Given the description of an element on the screen output the (x, y) to click on. 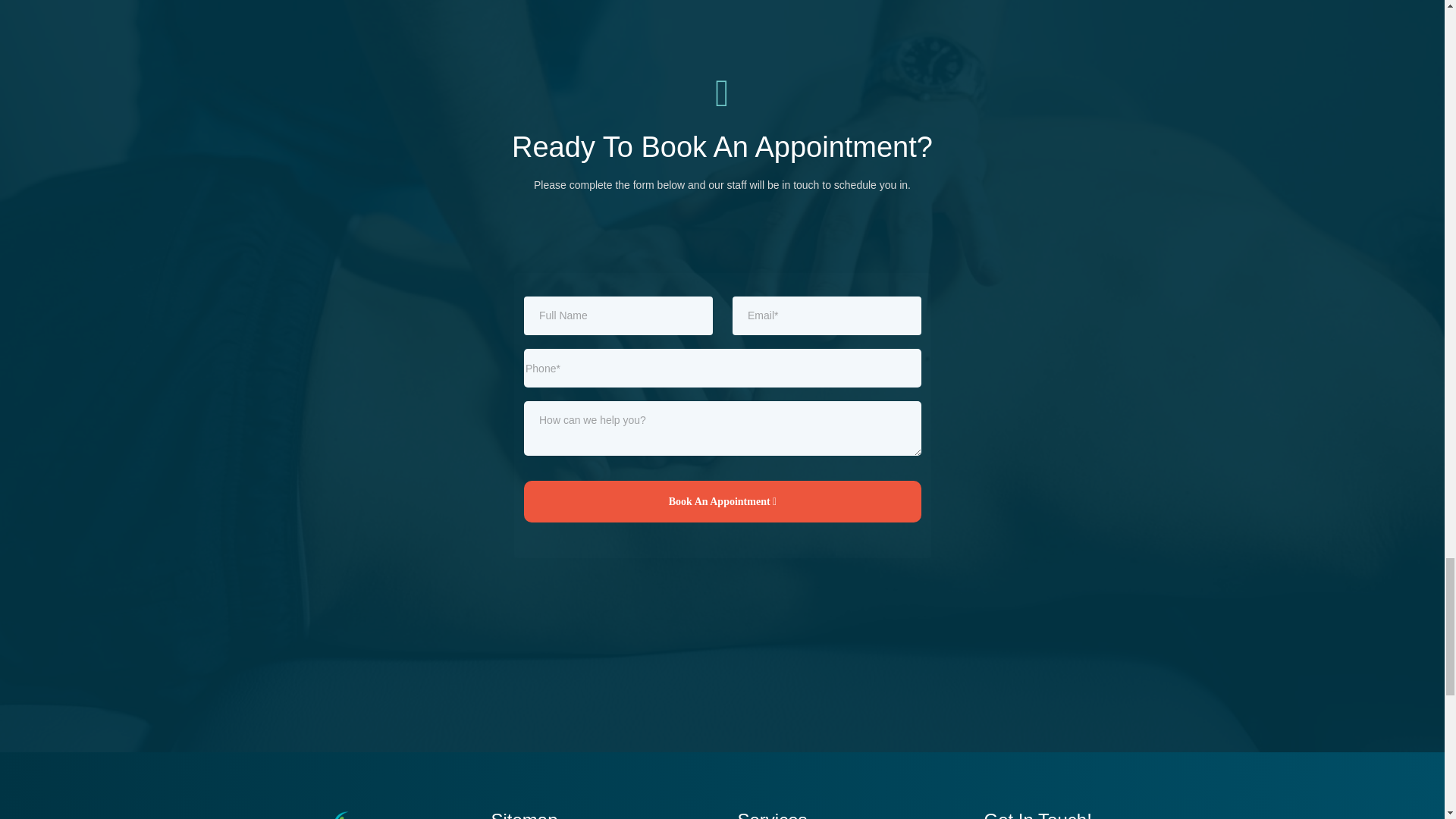
bouncebackwhite (327, 814)
